Given the description of an element on the screen output the (x, y) to click on. 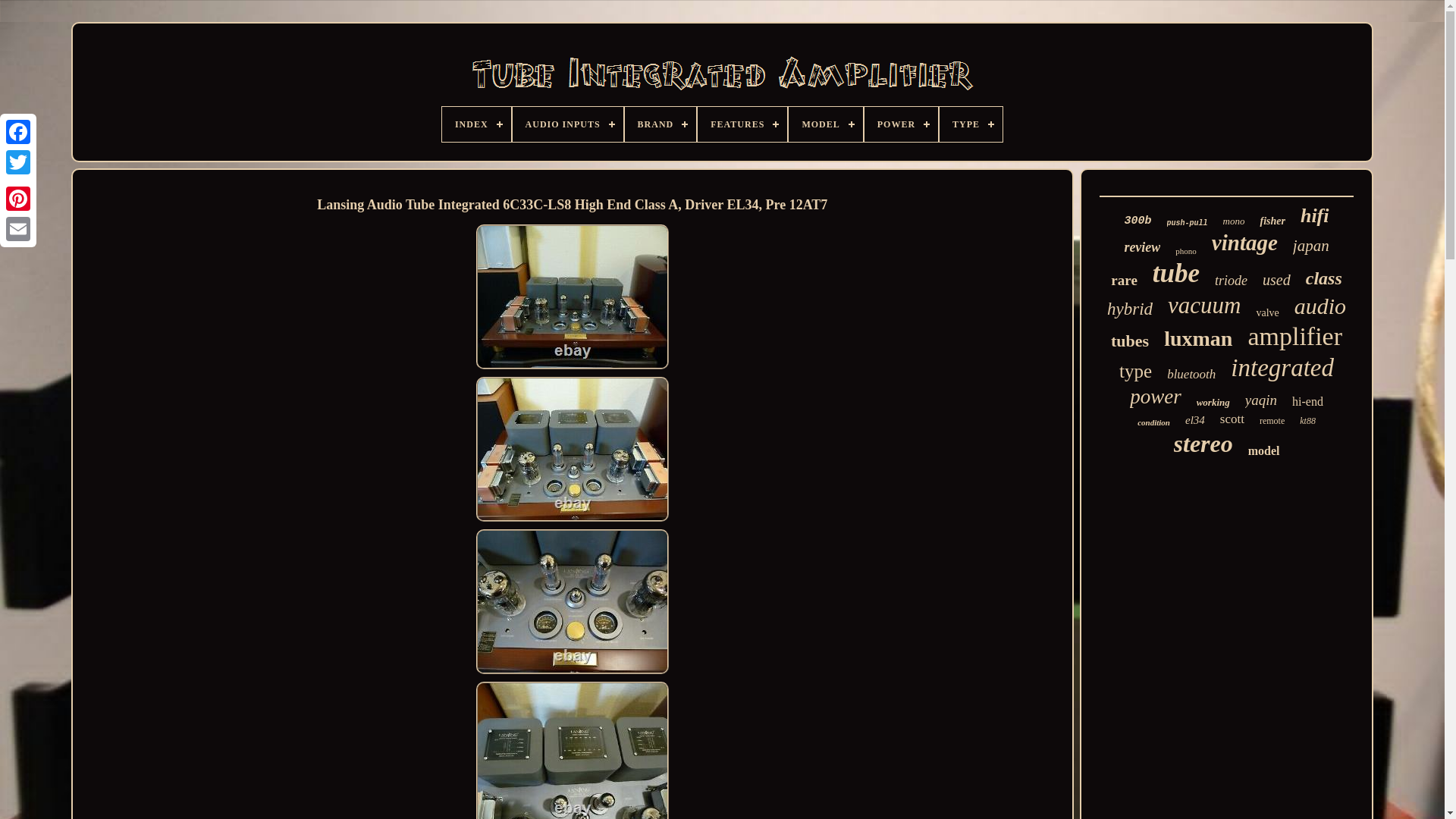
INDEX (476, 124)
AUDIO INPUTS (567, 124)
BRAND (660, 124)
